Given the description of an element on the screen output the (x, y) to click on. 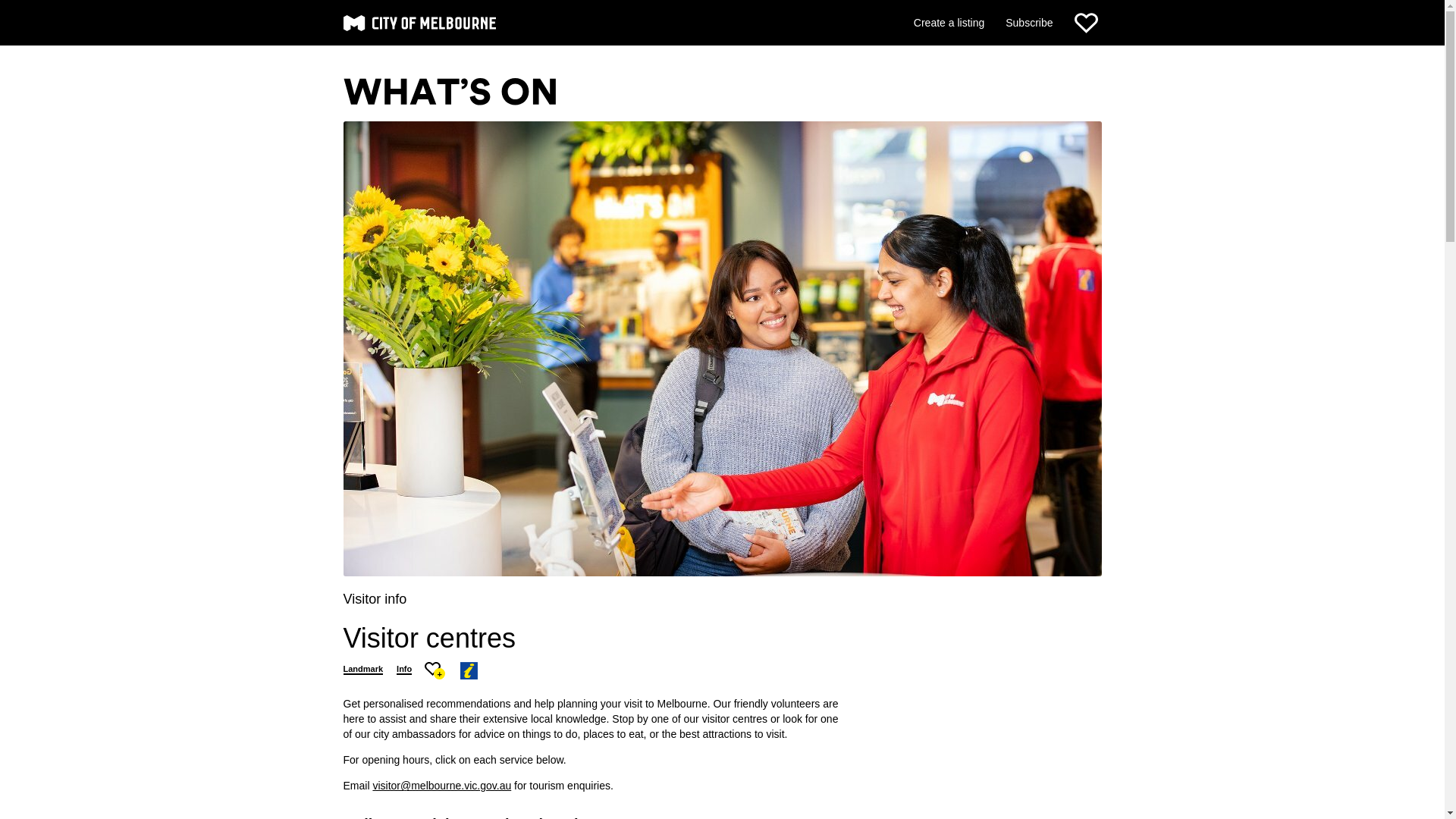
Create a listing (949, 22)
Subscribe (1029, 22)
Info (404, 669)
Landmark (362, 669)
Visitor info (374, 598)
